Given the description of an element on the screen output the (x, y) to click on. 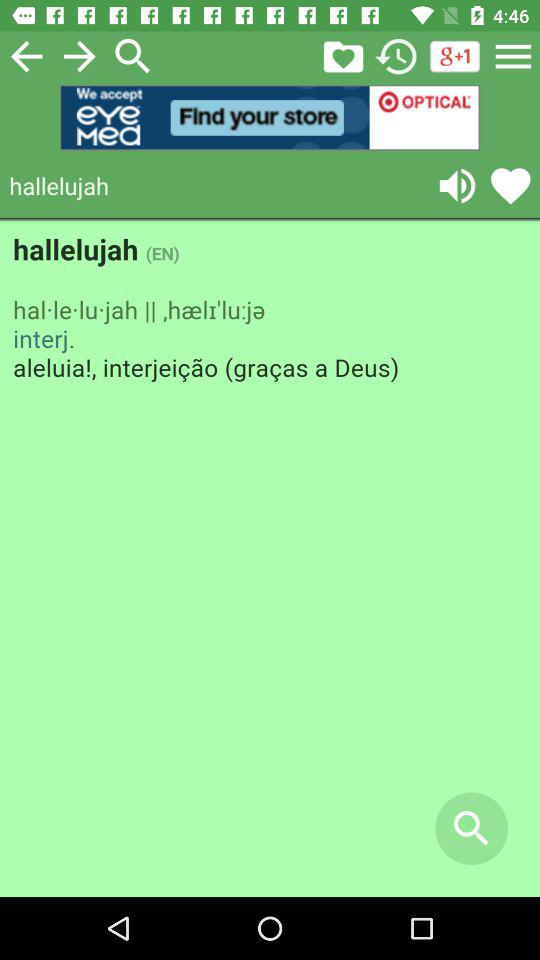
play audio (457, 185)
